Given the description of an element on the screen output the (x, y) to click on. 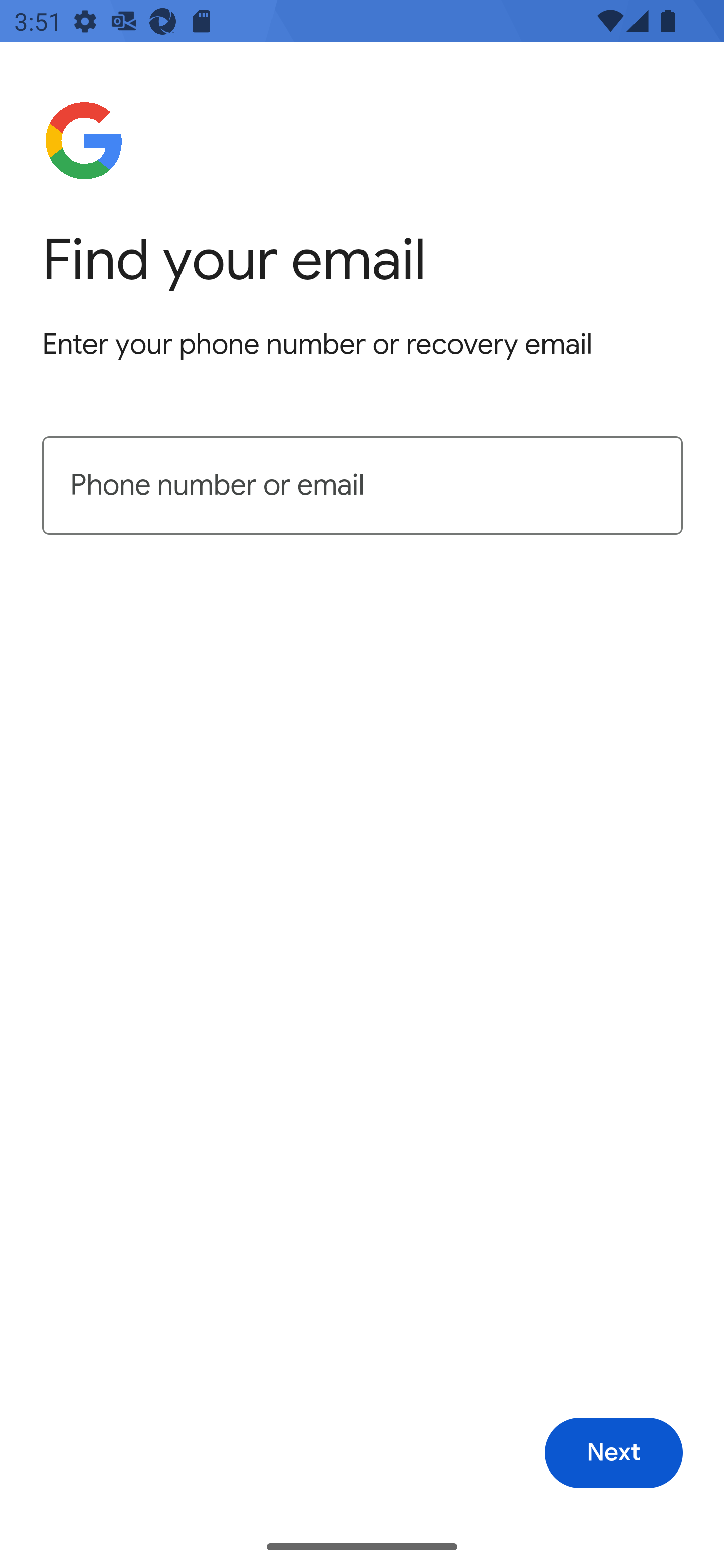
Next (613, 1453)
